Given the description of an element on the screen output the (x, y) to click on. 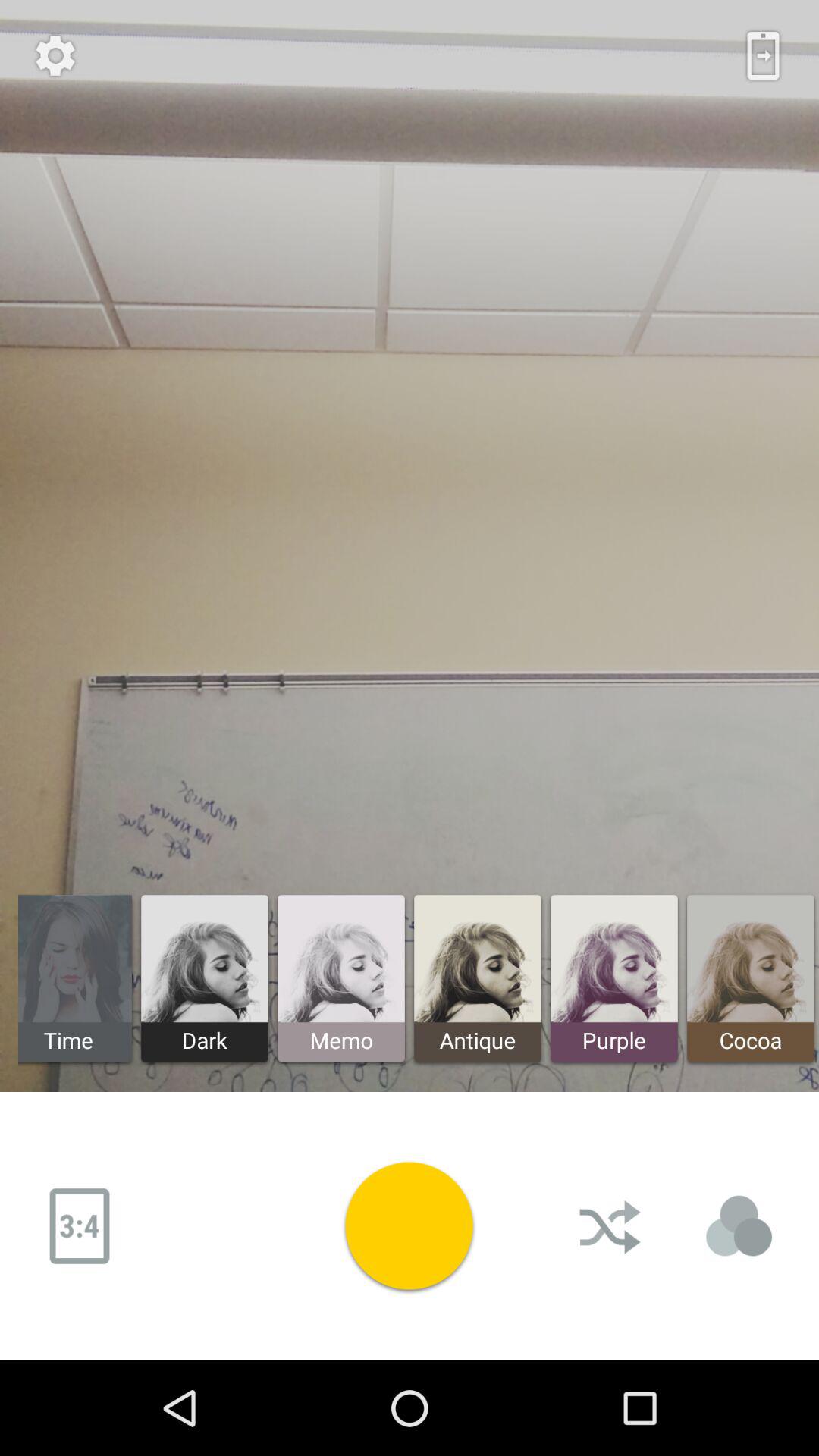
click on image ratio icon (79, 1225)
select the time filter (77, 978)
select the image above time (74, 959)
click on the icon below purple (612, 1225)
click on the dark left to memo (204, 978)
click on the button next to antique (614, 978)
click on the icon next settings icon (763, 55)
click on yellow circle at the bottom of the page (409, 1225)
select the icon at the top right corner of the page (763, 55)
click on first image at the bottom right corner of the page (750, 978)
click the button on the right next to camera button on the web page (612, 1225)
